Given the description of an element on the screen output the (x, y) to click on. 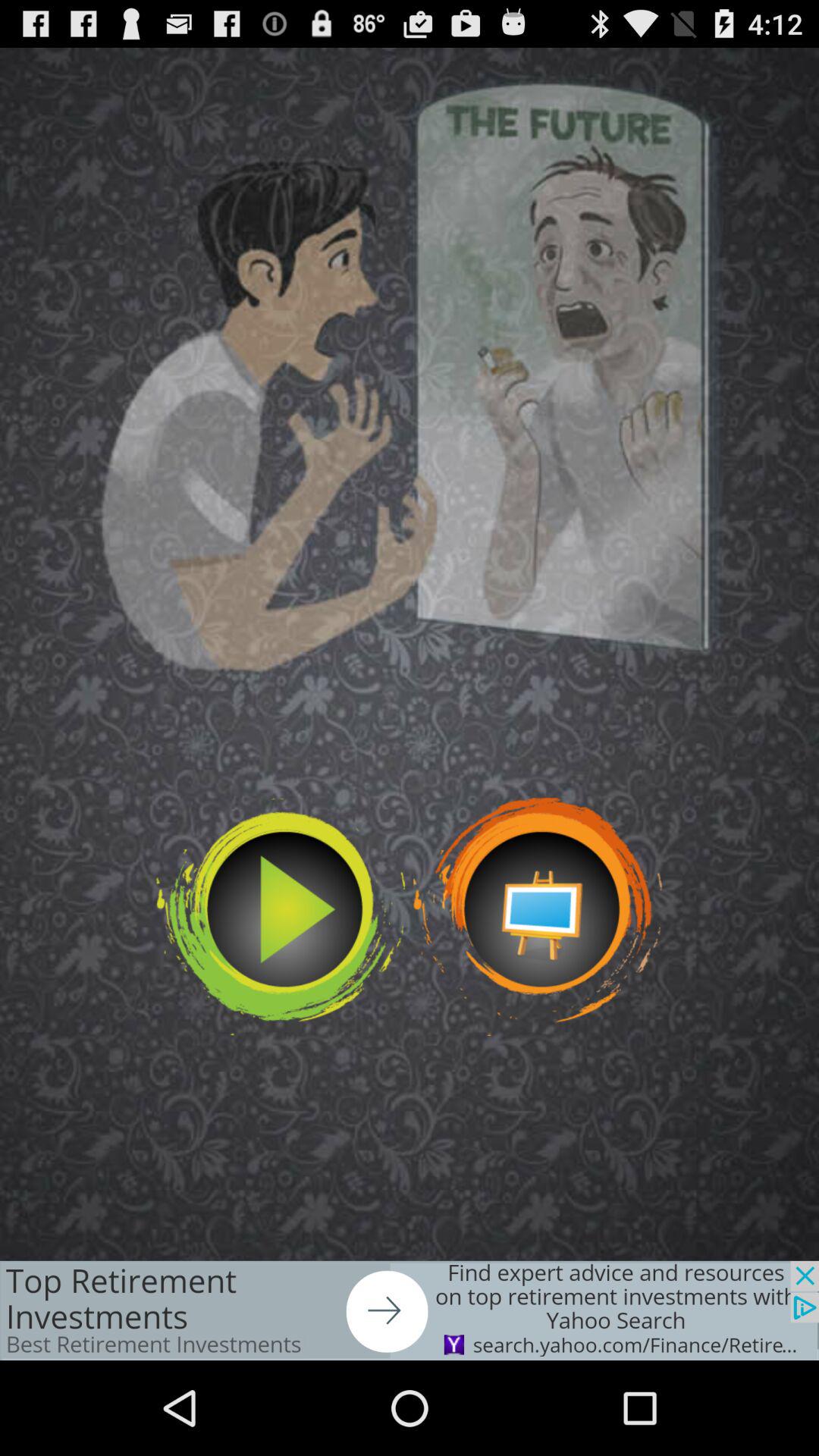
play this video (280, 916)
